Given the description of an element on the screen output the (x, y) to click on. 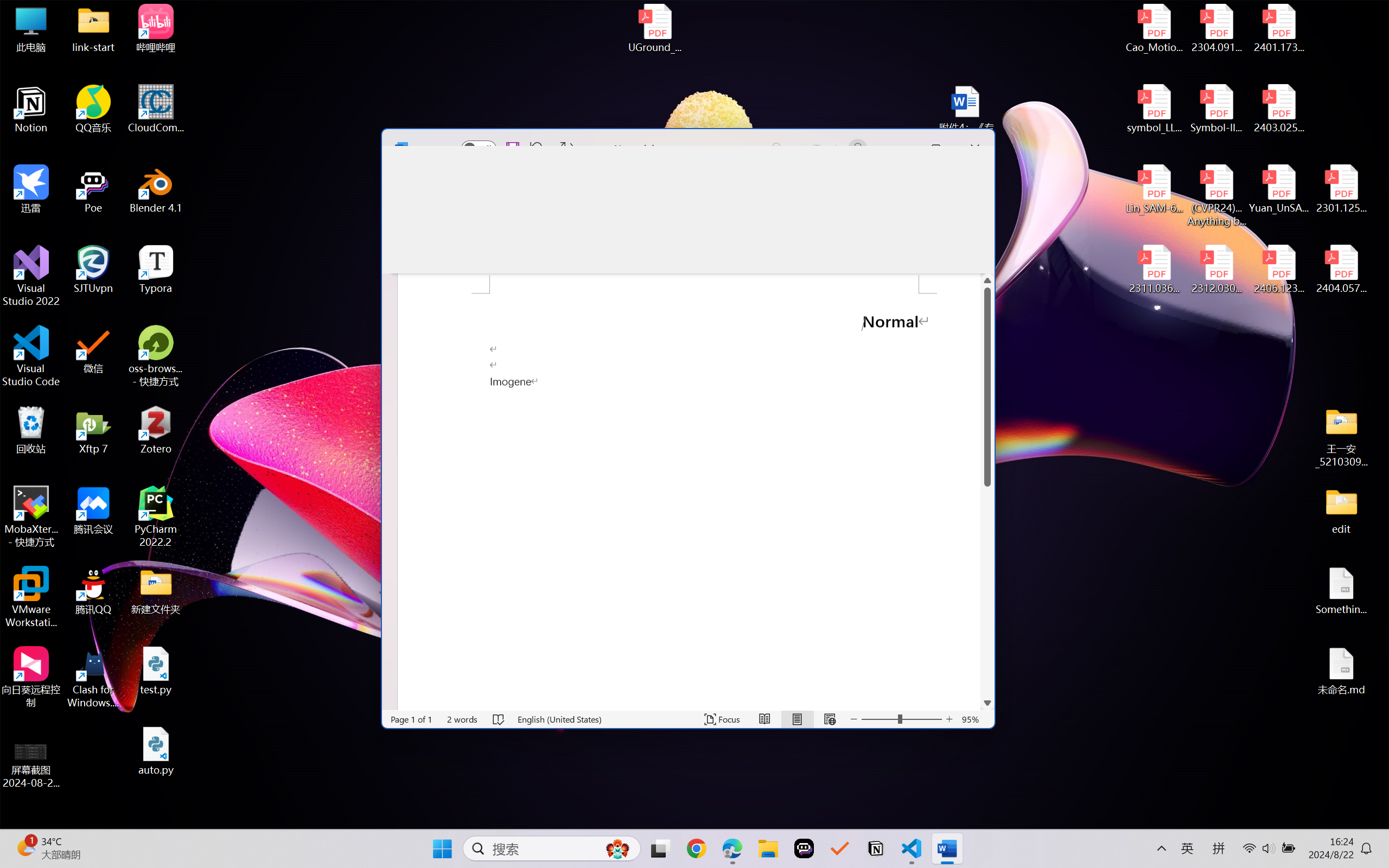
Repeat Paragraph Formatting (566, 148)
